Given the description of an element on the screen output the (x, y) to click on. 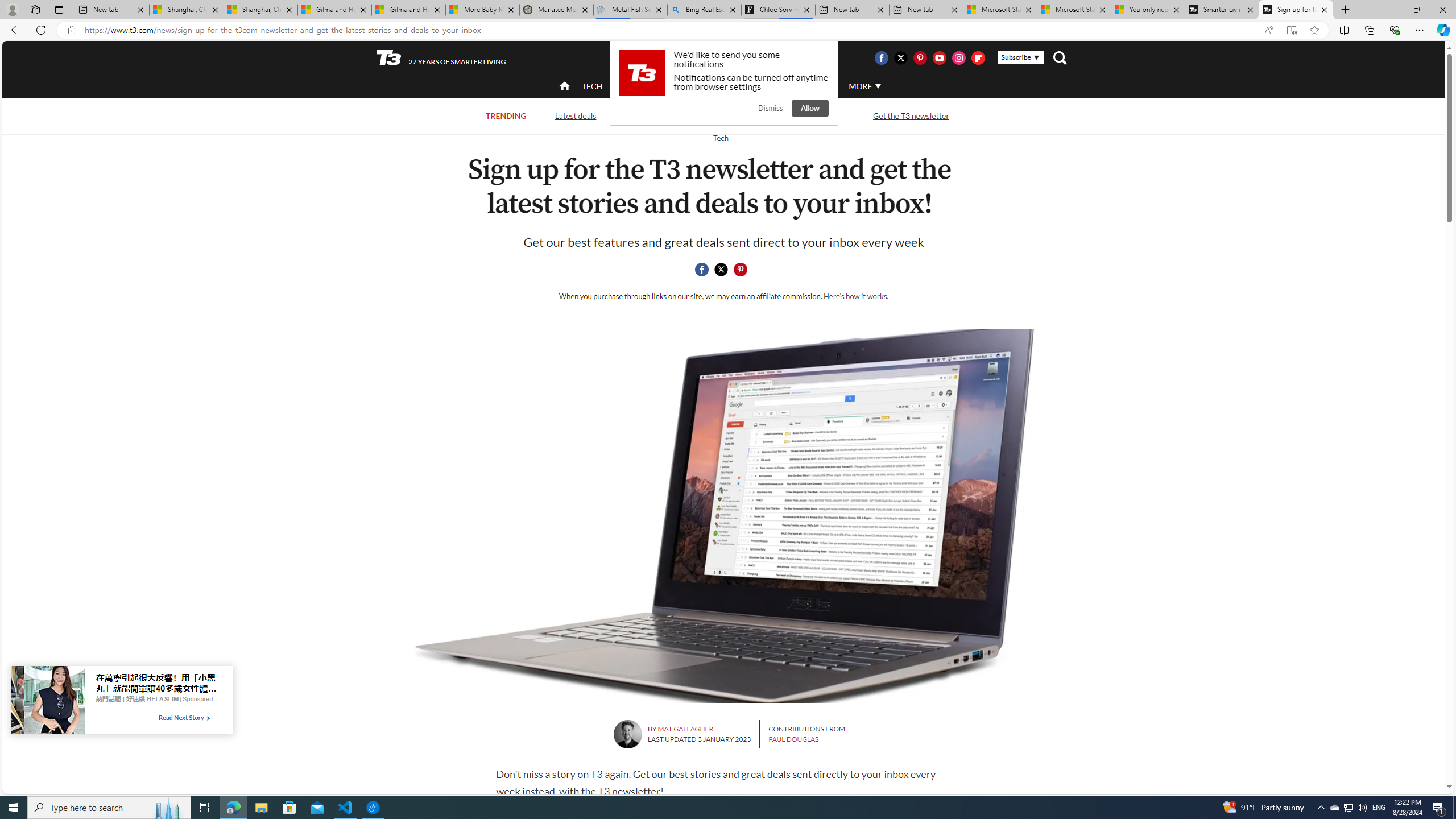
Smarter Living | T3 (1221, 9)
Bing Real Estate - Home sales and rental listings (703, 9)
Return to Tech (720, 137)
T3 27 YEARS OF SMARTER LIVING (441, 57)
Image for Taboola Advertising Unit (47, 702)
Allow (810, 107)
Visit us on Facebook (880, 57)
Class: tbl-arrow-icon arrow-2 (208, 717)
Class: navigation__item (563, 86)
Address and search bar (669, 29)
ACTIVE (638, 85)
